Given the description of an element on the screen output the (x, y) to click on. 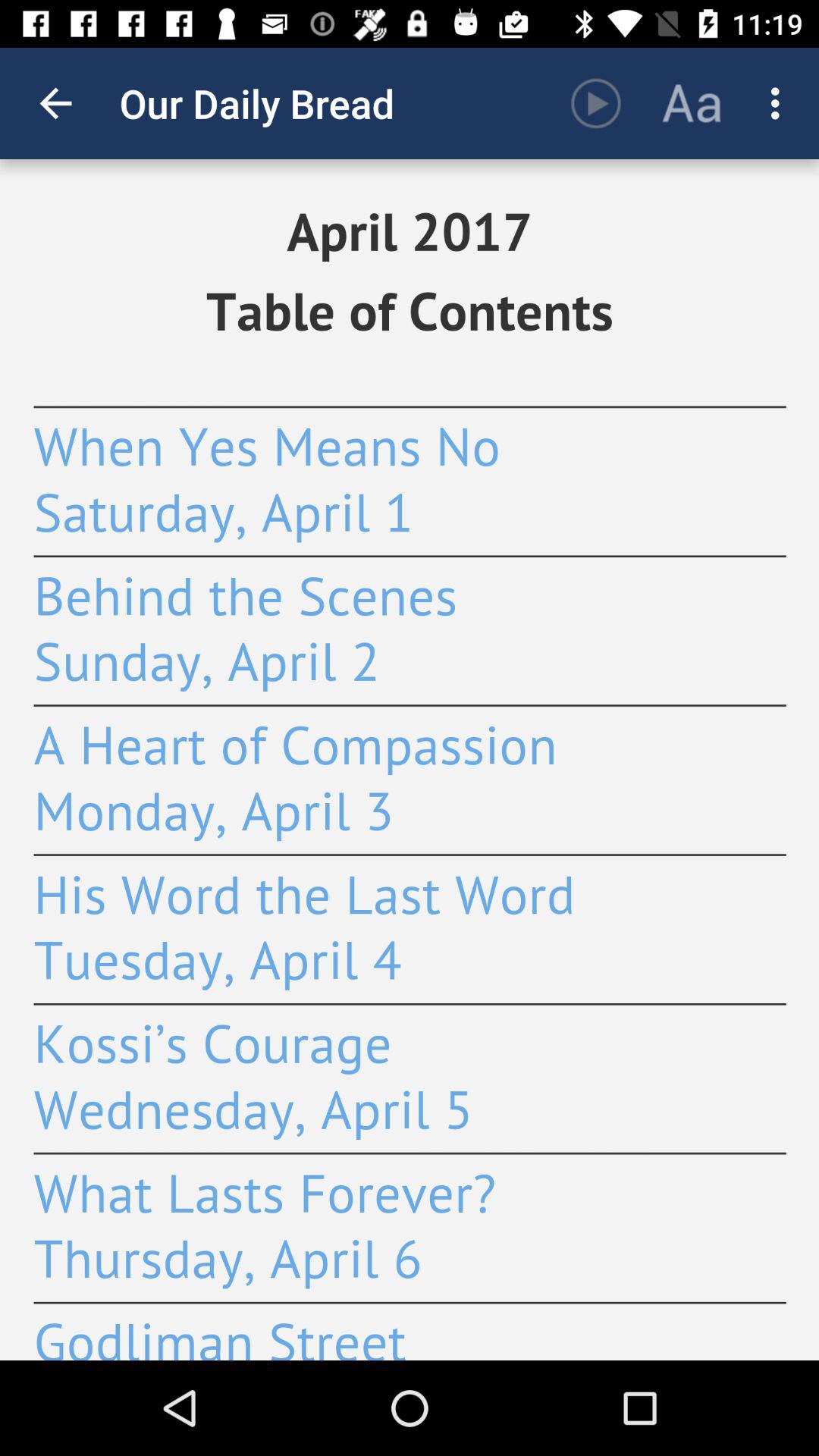
press item at the center (409, 759)
